Given the description of an element on the screen output the (x, y) to click on. 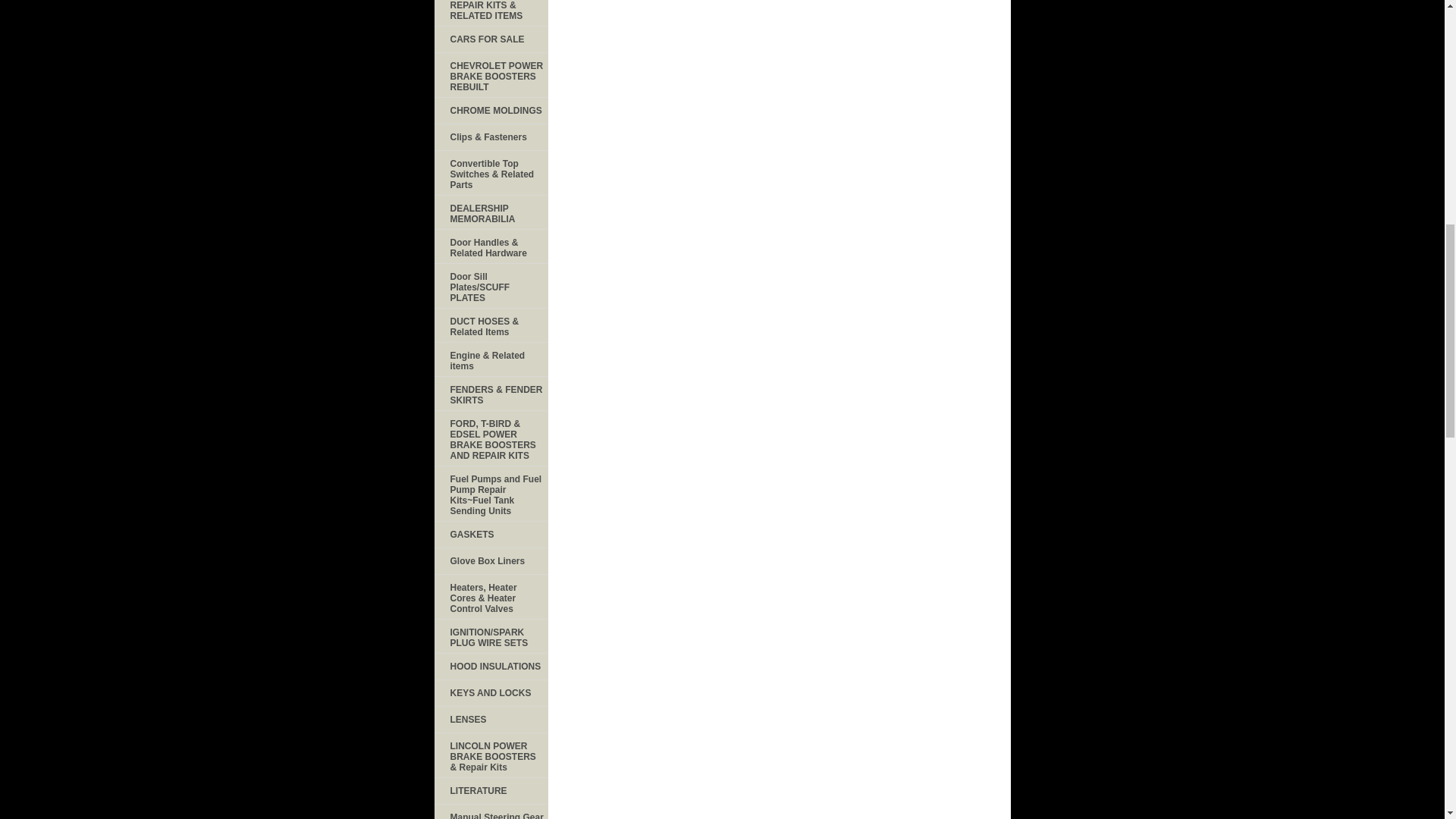
CARS FOR SALE (490, 39)
DEALERSHIP MEMORABILIA (490, 212)
CHEVROLET POWER BRAKE BOOSTERS REBUILT (490, 75)
CHROME MOLDINGS (490, 110)
